Given the description of an element on the screen output the (x, y) to click on. 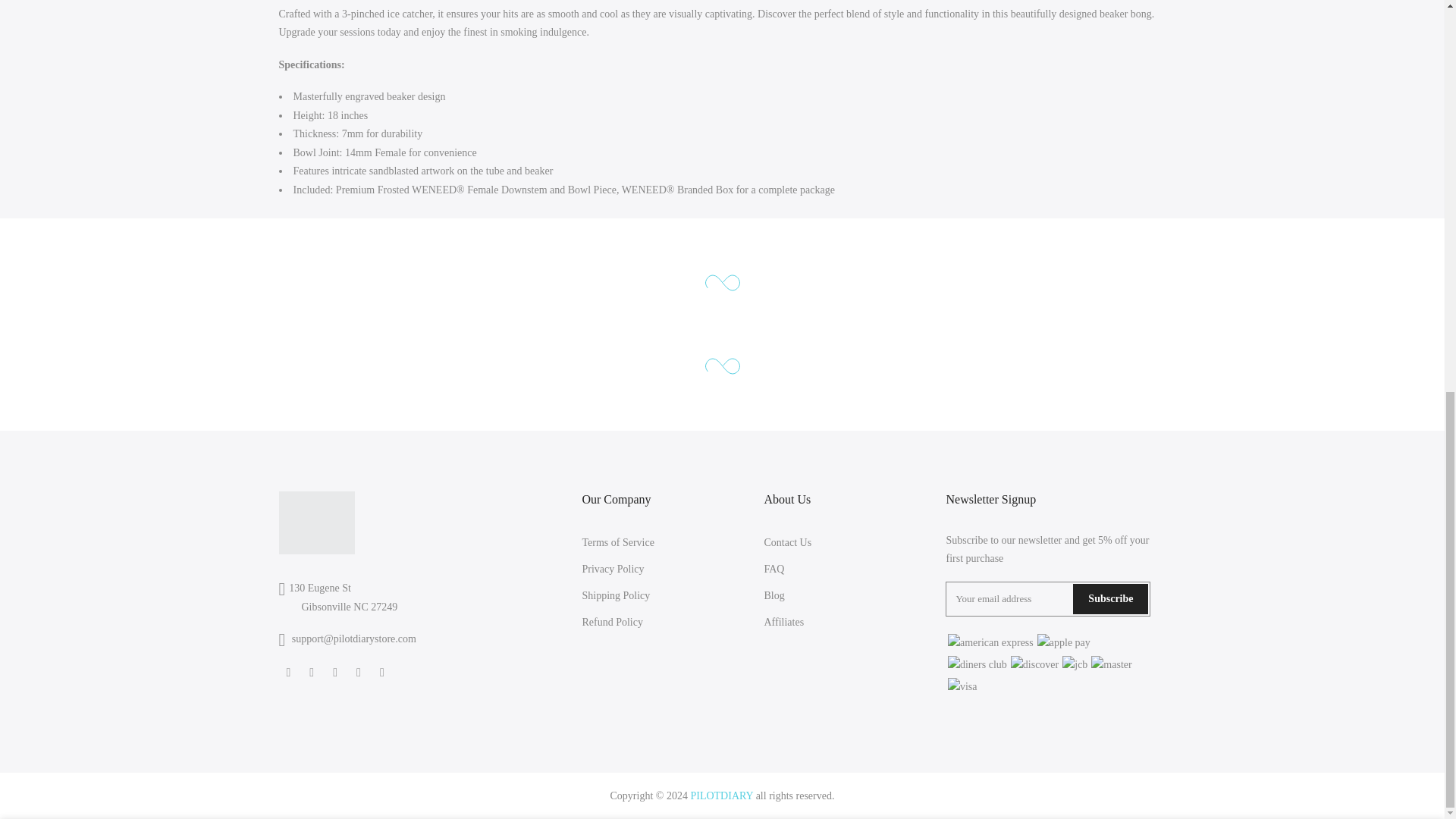
1 (1001, 104)
